Given the description of an element on the screen output the (x, y) to click on. 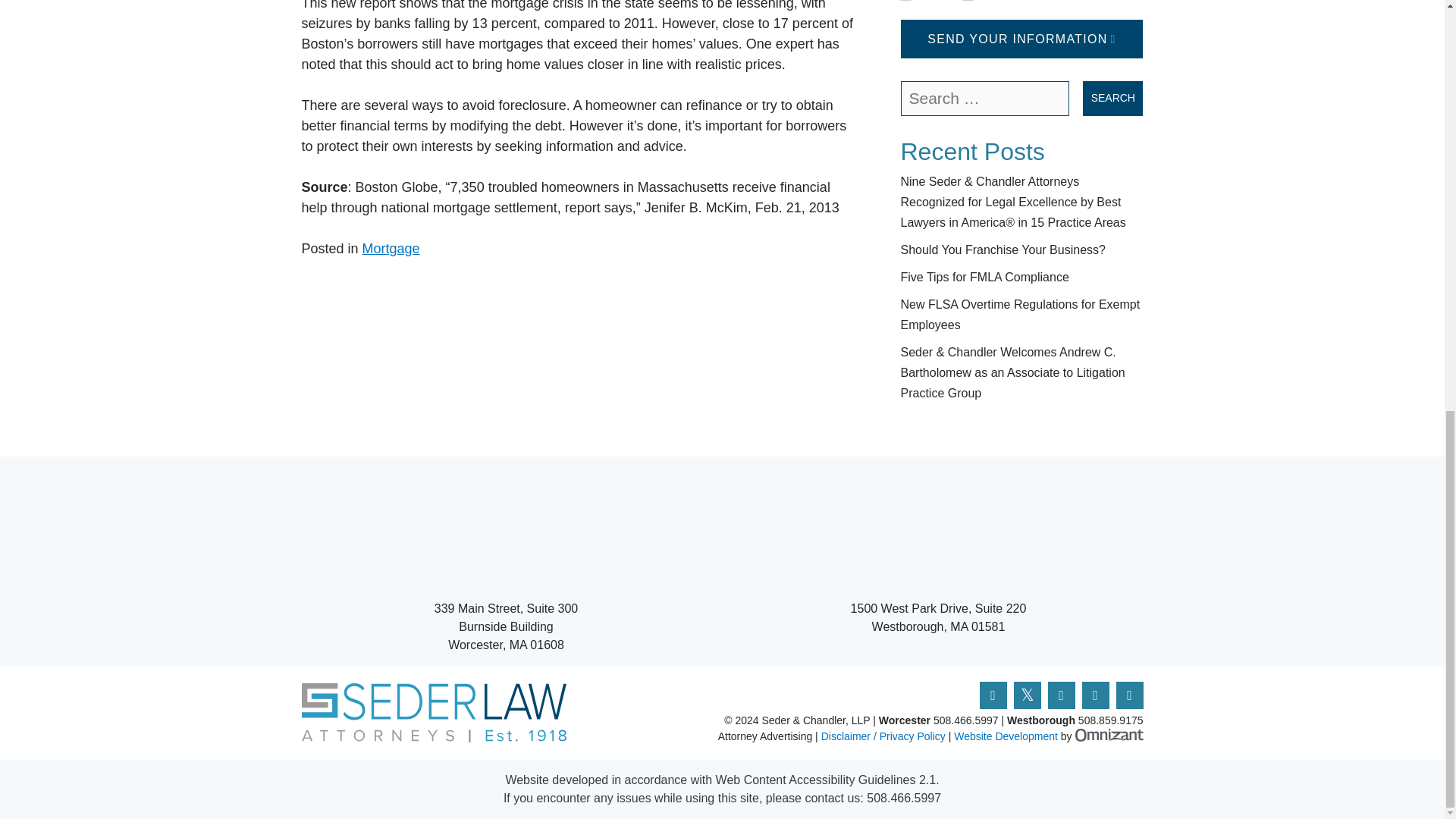
Search (1112, 98)
Search (1112, 98)
Search for: (985, 98)
